Given the description of an element on the screen output the (x, y) to click on. 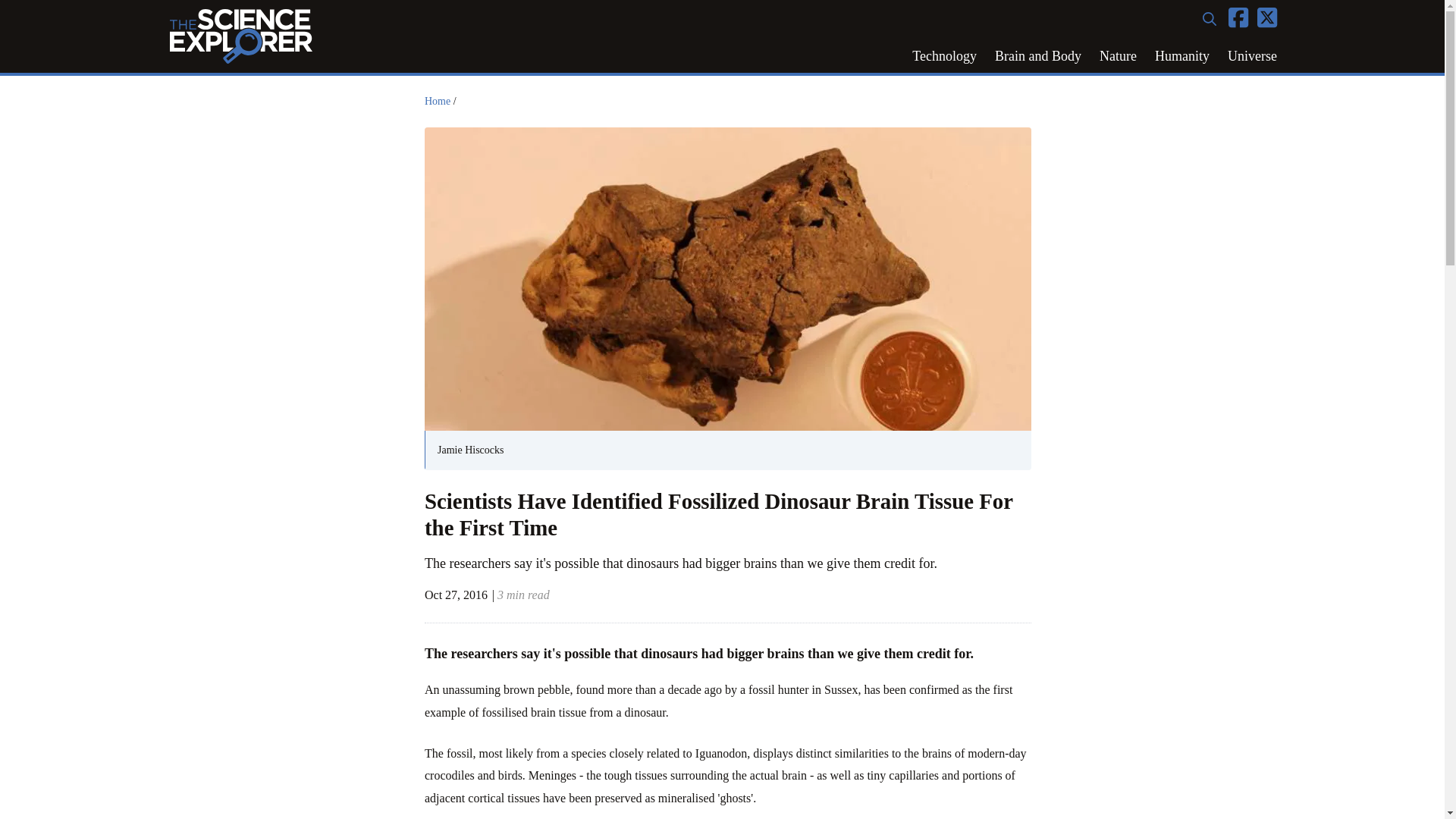
Humanity (1181, 55)
Brain and Body (1037, 55)
Universe (1251, 55)
Nature (1117, 55)
Technology (943, 55)
Home (437, 101)
